Given the description of an element on the screen output the (x, y) to click on. 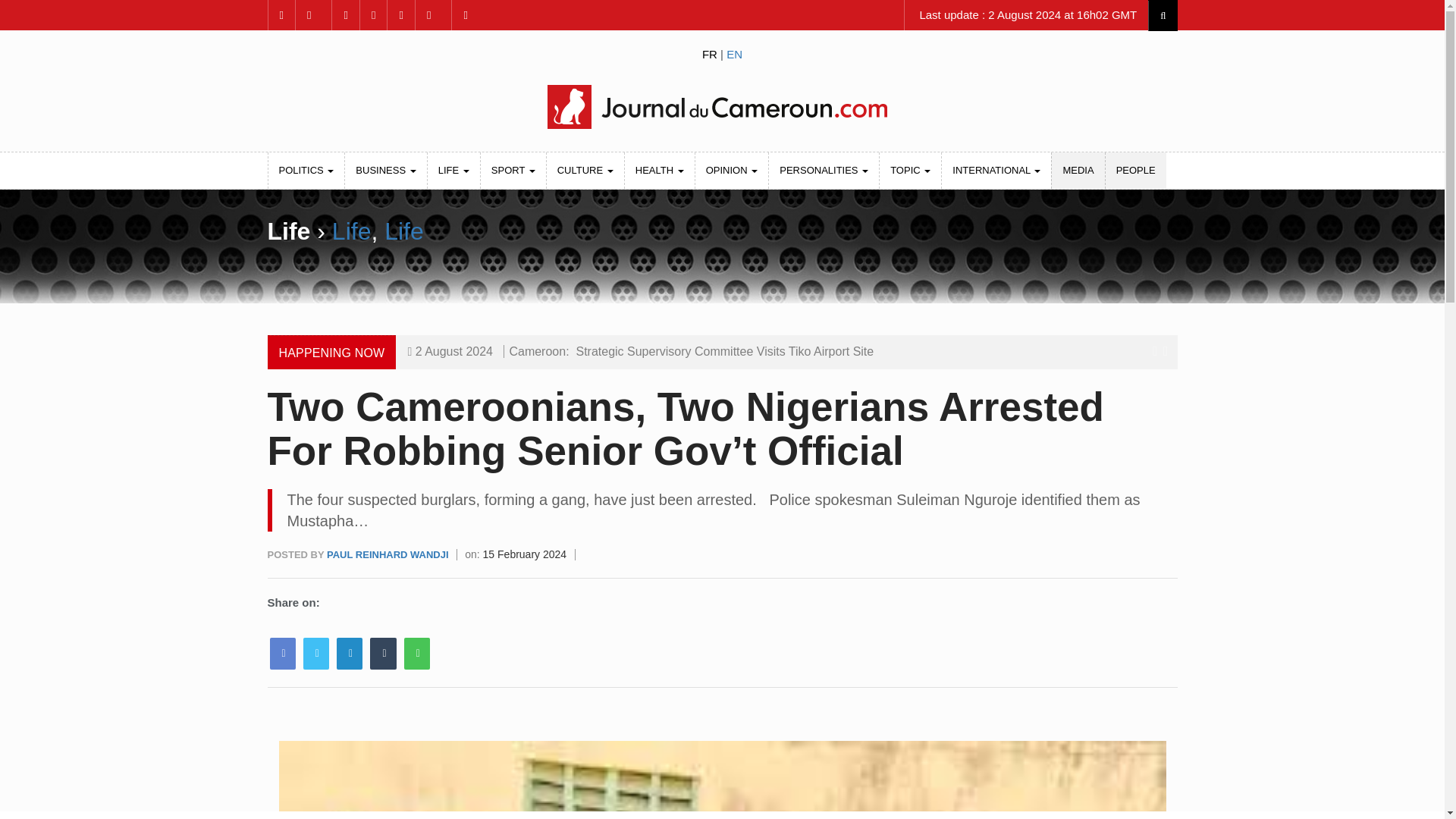
FR (709, 53)
EN (734, 53)
Last update : 2 August 2024 at 16h02 GMT (1026, 15)
JDC (721, 106)
BUSINESS (385, 170)
POLITICS (306, 170)
